Given the description of an element on the screen output the (x, y) to click on. 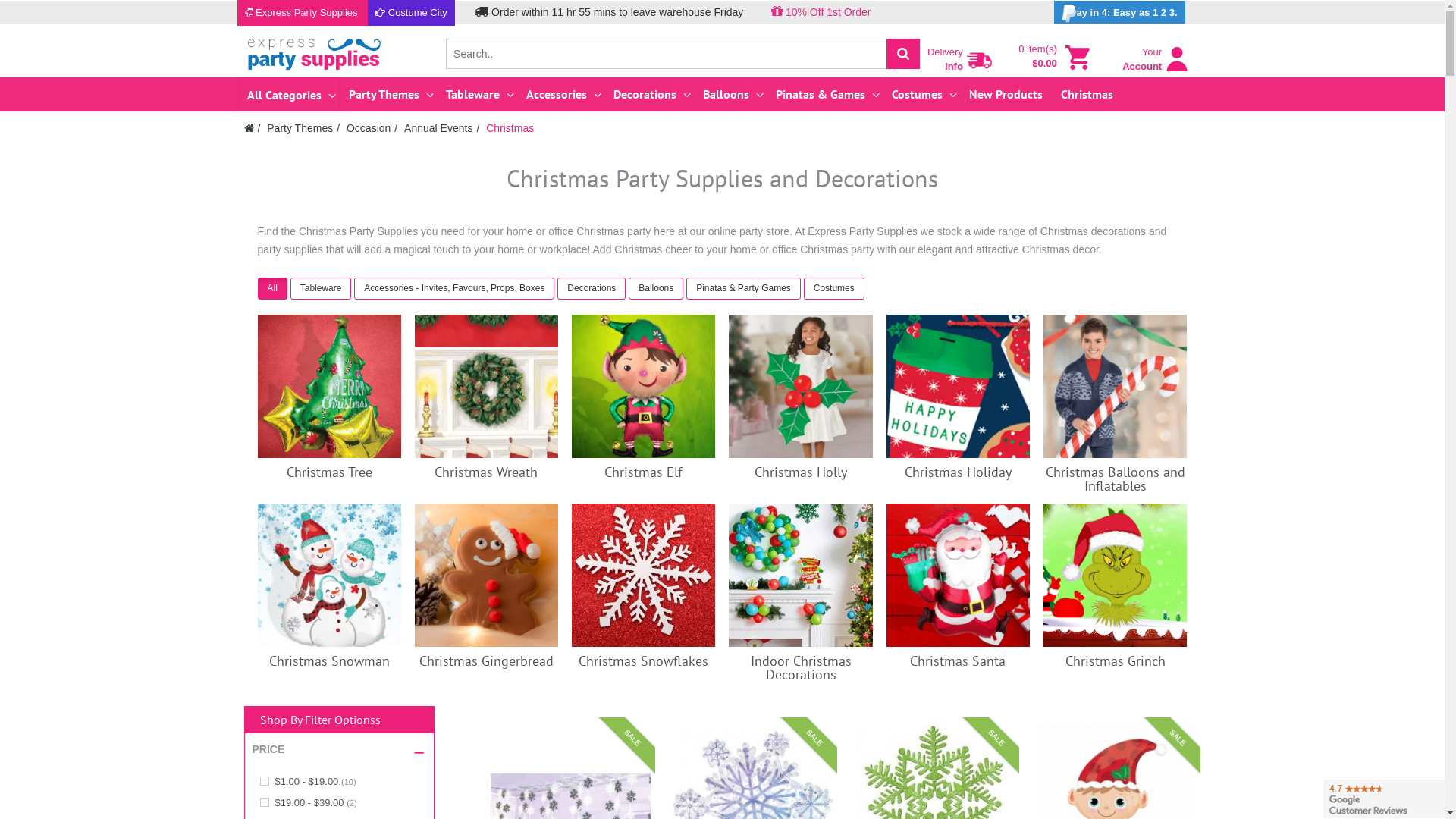
Christmas Wreath Element type: hover (486, 386)
Christmas Holly Element type: text (800, 471)
Costumes Element type: text (920, 93)
Christmas Santa Element type: hover (957, 574)
Annual Events Element type: text (438, 128)
Occasion Element type: text (368, 128)
Christmas Snowflakes Element type: hover (643, 574)
Indoor Christmas Decorations Element type: hover (800, 574)
New Products Element type: text (1005, 93)
Christmas Wreath Element type: text (485, 471)
ay in 4: Easy as 1 2 3. Element type: text (1119, 11)
Christmas Element type: text (509, 128)
Decorations Element type: text (591, 288)
Christmas Snowman Element type: hover (329, 574)
Pinatas & Party Games Element type: text (743, 288)
All Element type: text (273, 289)
Delivery
Info Element type: text (961, 56)
Costumes Element type: text (833, 289)
Party Supplies Element type: hover (314, 52)
Cart Items Element type: hover (1077, 57)
Tableware Element type: text (322, 289)
Christmas Elf Element type: hover (643, 386)
Christmas Grinch Element type: text (1115, 660)
Balloons Element type: text (729, 93)
Party Themes Element type: text (299, 128)
Christmas Balloons and Inflatables Element type: hover (1114, 386)
Party Themes Element type: text (387, 93)
Delivery Info Element type: hover (978, 60)
Christmas Gingerbread Element type: text (486, 660)
All Element type: text (272, 288)
Accessories - Invites, Favours, Props, Boxes Element type: text (455, 289)
Tableware Element type: text (320, 288)
Christmas Holly Element type: hover (800, 386)
Christmas Tree Element type: hover (329, 386)
All Categories Element type: text (287, 94)
Christmas Santa Element type: text (957, 660)
Pinatas & Party Games Element type: text (744, 289)
Christmas Holiday Element type: hover (957, 386)
Balloons Element type: text (657, 289)
Christmas Holiday Element type: text (957, 471)
Christmas Gingerbread Element type: hover (486, 574)
Christmas Element type: text (1086, 93)
Christmas Tree Element type: text (329, 471)
Balloons Element type: text (655, 288)
Pinatas & Games Element type: text (824, 93)
Accessories - Invites, Favours, Props, Boxes Element type: text (454, 288)
Decorations Element type: text (592, 289)
Christmas Elf Element type: text (643, 471)
Indoor Christmas Decorations Element type: text (800, 667)
Christmas Snowflakes Element type: text (643, 660)
Christmas Snowman Element type: text (329, 660)
Christmas Balloons and Inflatables Element type: text (1115, 478)
PRICE Element type: text (267, 749)
Christmas Grinch Element type: hover (1114, 574)
Decorations Element type: text (649, 93)
Your
Account Element type: text (1155, 65)
Costumes Element type: text (833, 288)
Tableware Element type: text (475, 93)
Accessories Element type: text (559, 93)
